Given the description of an element on the screen output the (x, y) to click on. 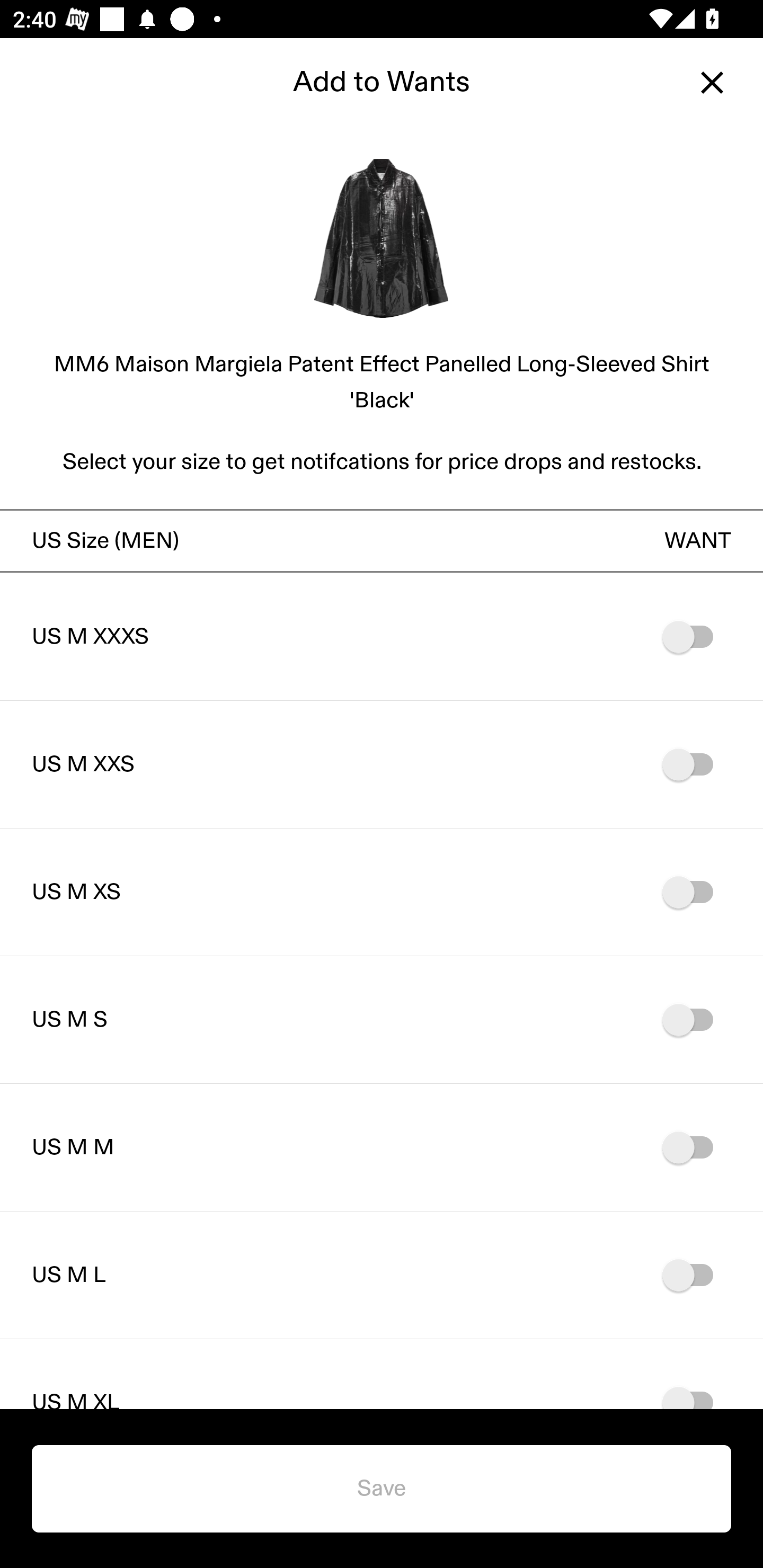
Save (381, 1488)
